Given the description of an element on the screen output the (x, y) to click on. 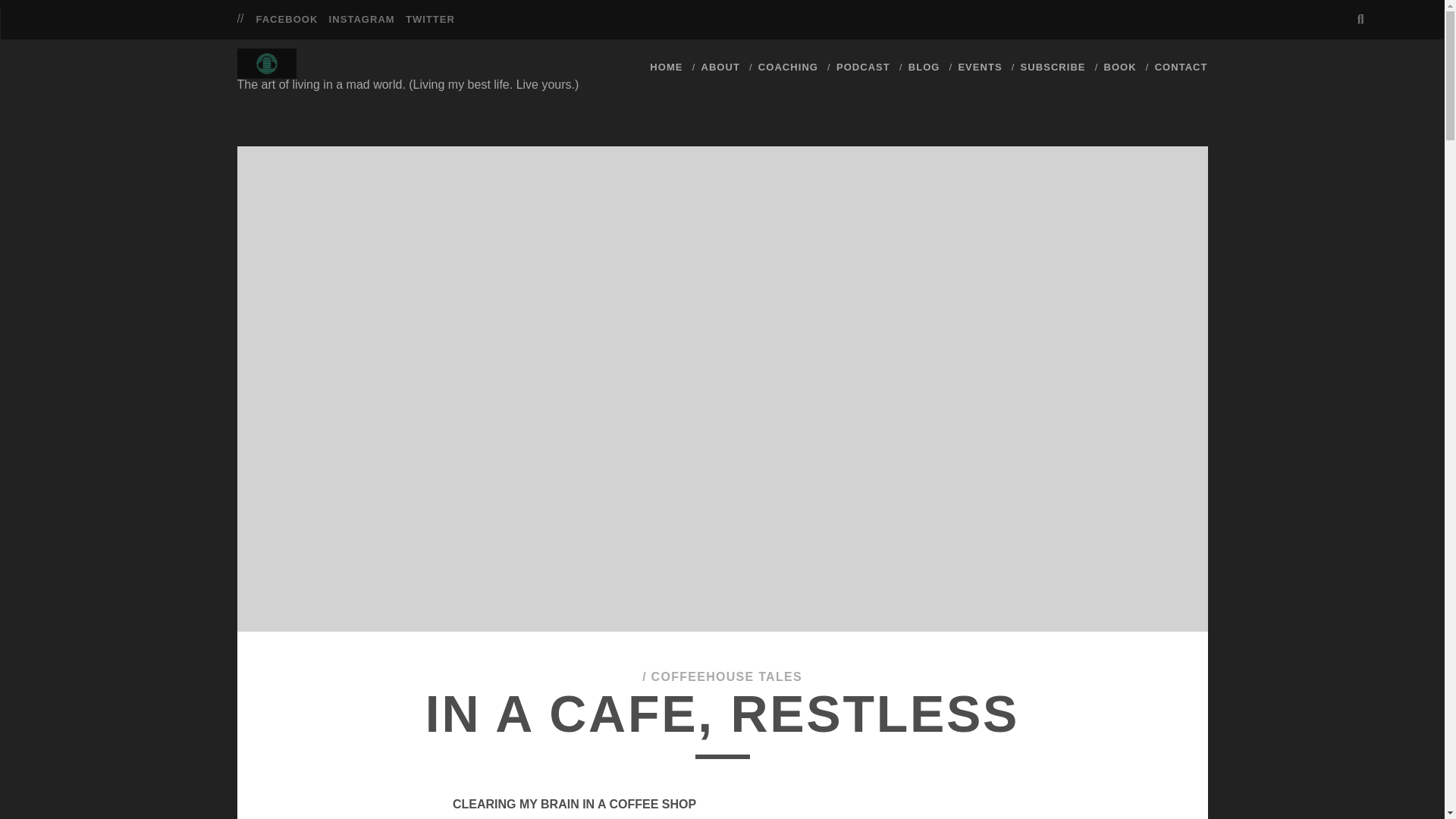
COACHING (788, 67)
TWITTER (430, 19)
ABOUT (719, 67)
FACEBOOK (286, 19)
EVENTS (979, 67)
HOME (665, 67)
INSTAGRAM (361, 19)
CONTACT (1181, 67)
SUBSCRIBE (1053, 67)
BLOG (924, 67)
